Given the description of an element on the screen output the (x, y) to click on. 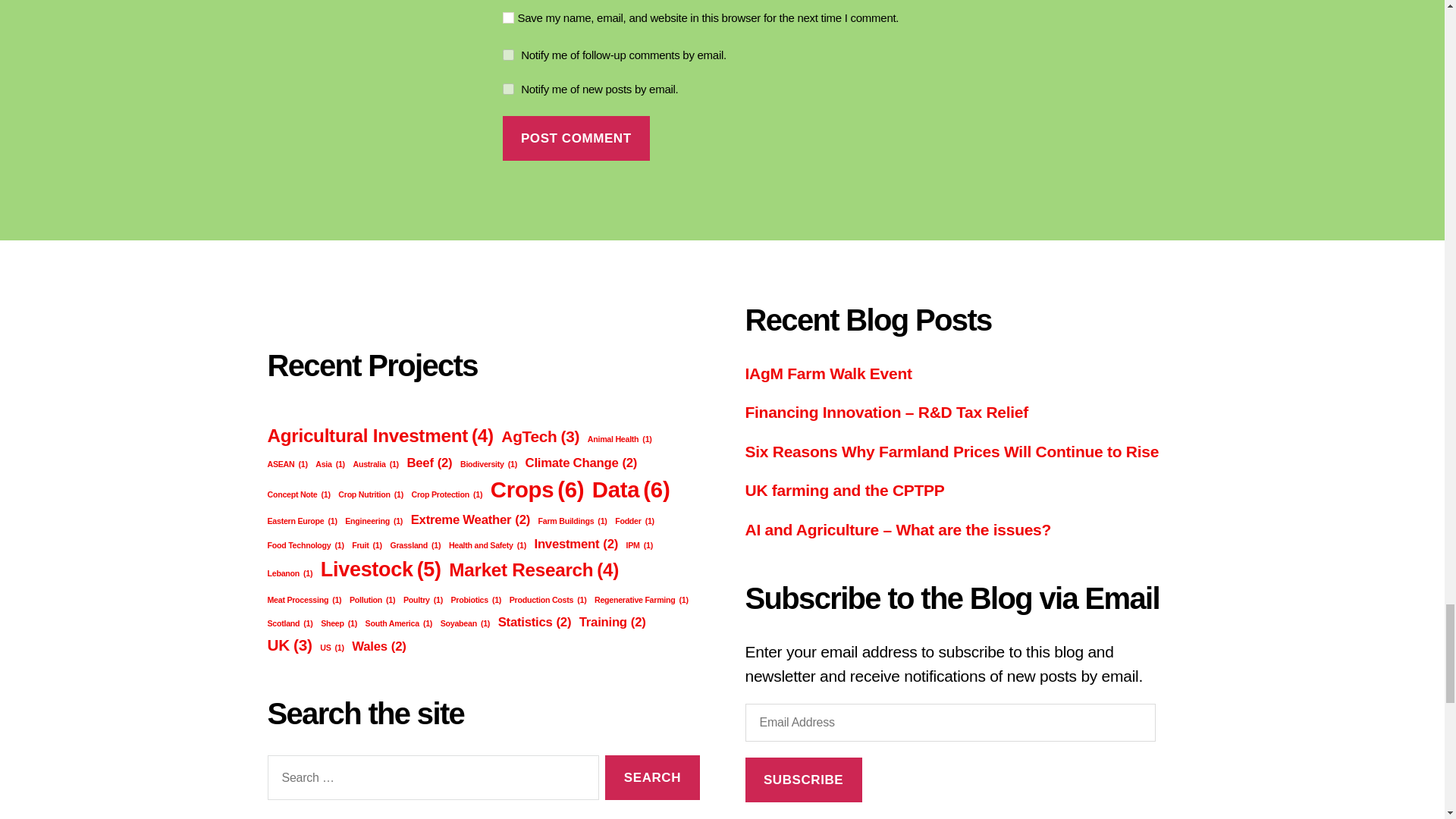
subscribe (507, 89)
subscribe (507, 54)
Post Comment (575, 138)
Search (651, 777)
Search (651, 777)
yes (507, 17)
